Given the description of an element on the screen output the (x, y) to click on. 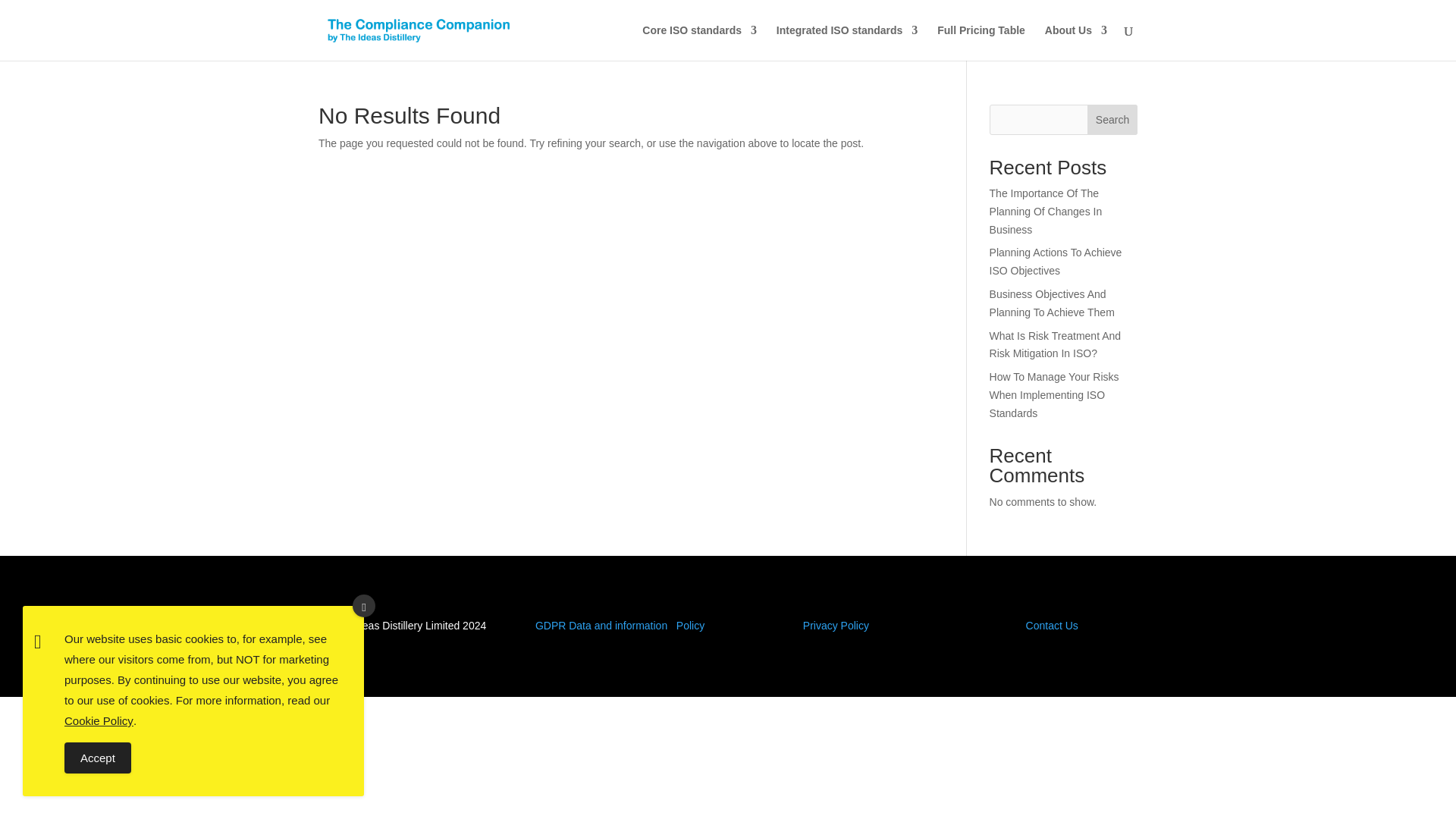
Core ISO standards (699, 42)
Integrated ISO standards (846, 42)
About Us (1075, 42)
Full Pricing Table (981, 42)
